Given the description of an element on the screen output the (x, y) to click on. 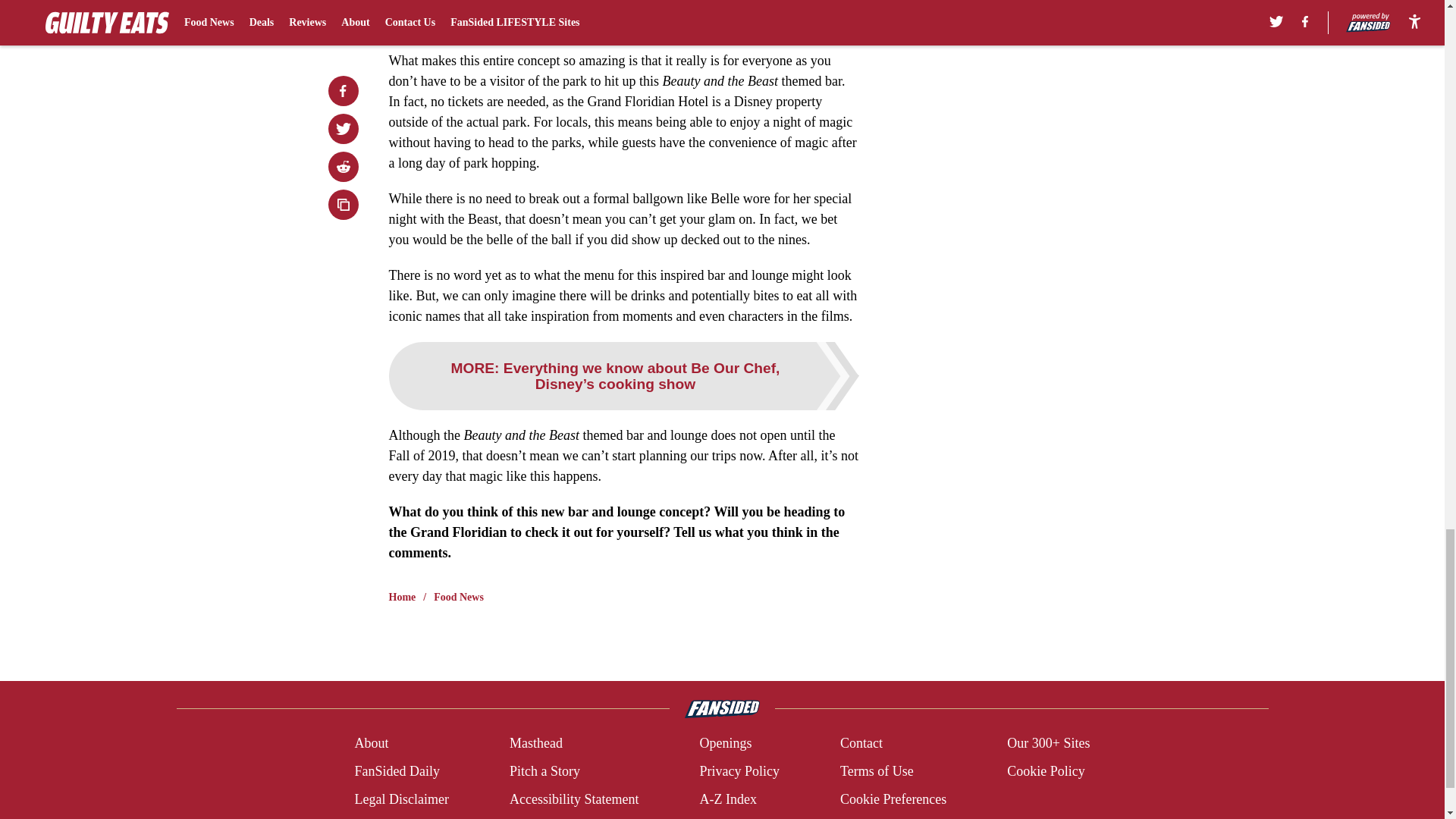
About (370, 743)
Pitch a Story (544, 771)
Cookie Policy (1045, 771)
Privacy Policy (738, 771)
Food News (458, 597)
Masthead (535, 743)
Terms of Use (877, 771)
Legal Disclaimer (400, 799)
Openings (724, 743)
Contact (861, 743)
Home (401, 597)
Accessibility Statement (574, 799)
The Dairy Queen Blizzard of the Month for December is? (561, 6)
FanSided Daily (396, 771)
